Given the description of an element on the screen output the (x, y) to click on. 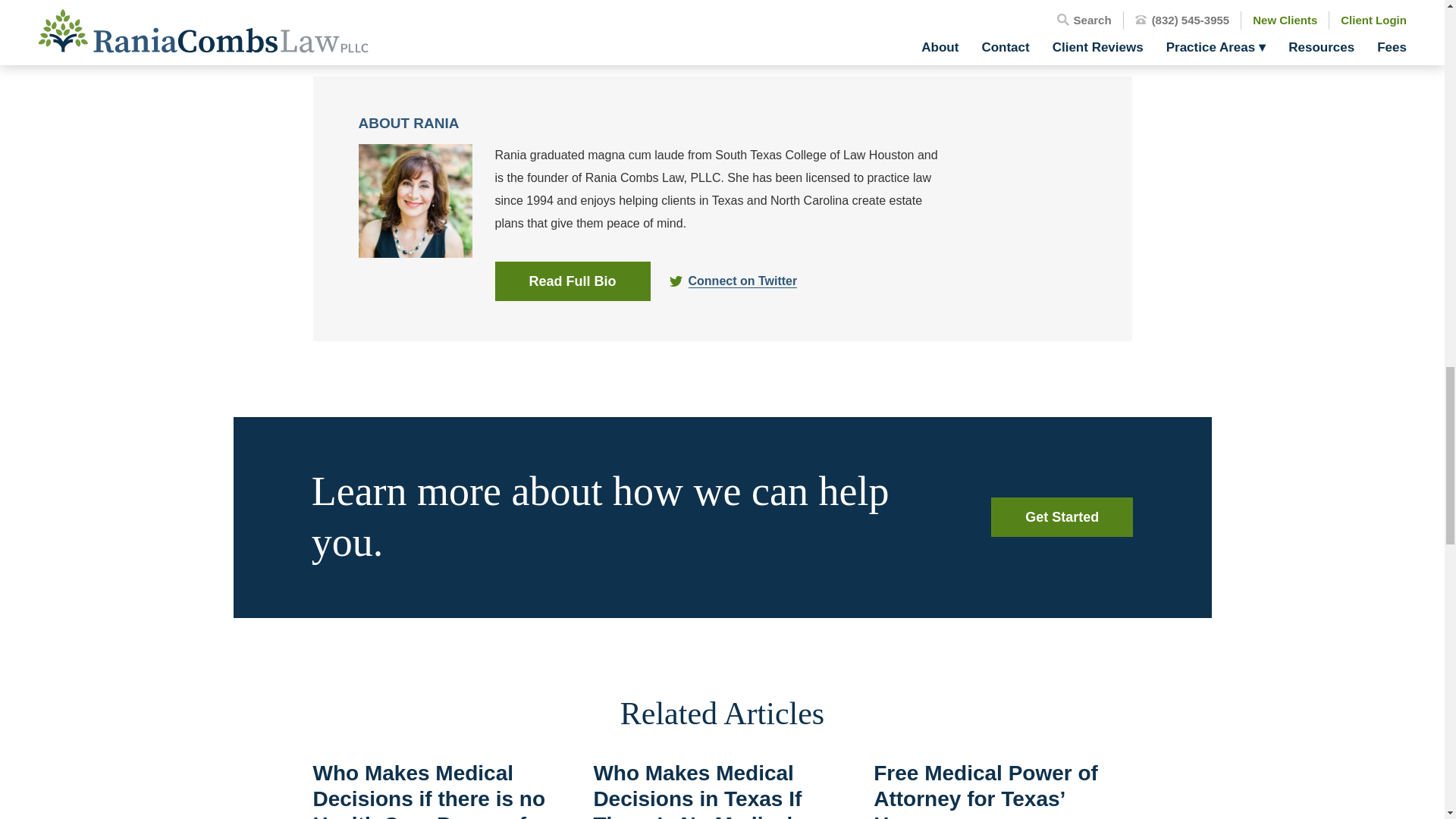
Get Started (1061, 517)
Read Full Bio (572, 281)
Connect on Twitter (742, 281)
